Given the description of an element on the screen output the (x, y) to click on. 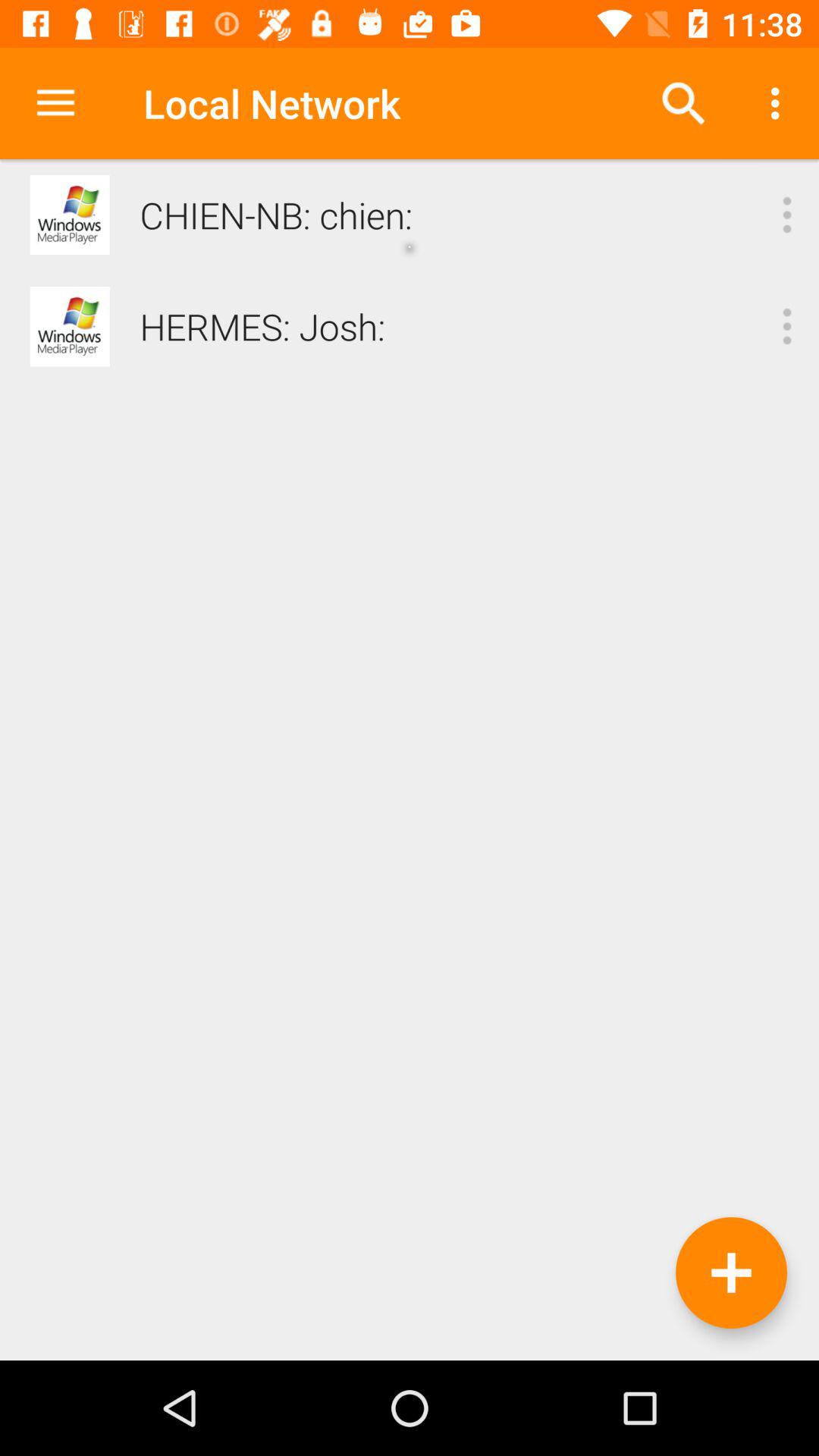
to click more option (787, 326)
